Given the description of an element on the screen output the (x, y) to click on. 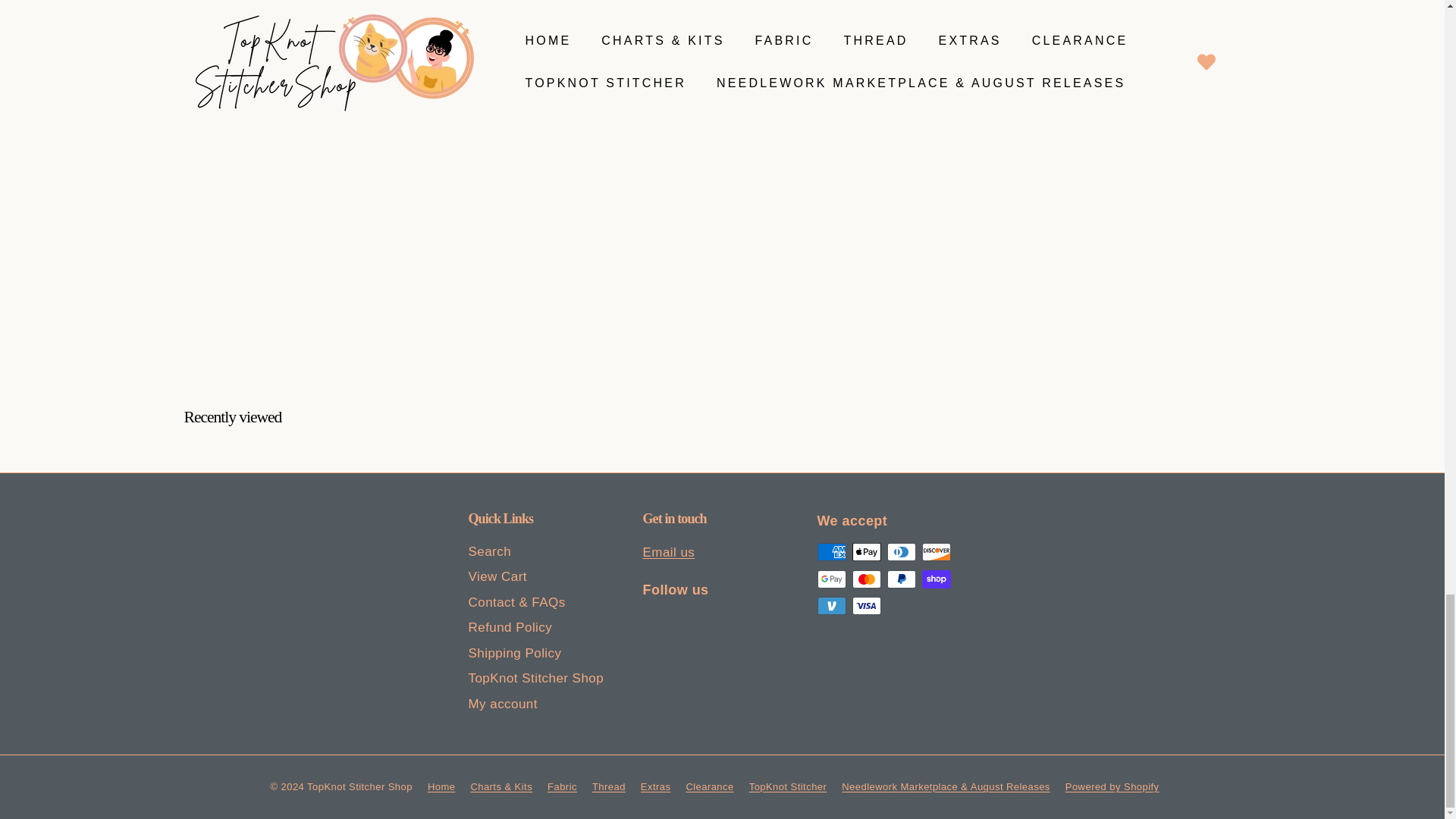
American Express (830, 551)
Google Pay (830, 579)
PayPal (900, 579)
Shop Pay (935, 579)
Apple Pay (865, 551)
Mastercard (865, 579)
Discover (935, 551)
Venmo (830, 606)
Visa (865, 606)
Diners Club (900, 551)
